Given the description of an element on the screen output the (x, y) to click on. 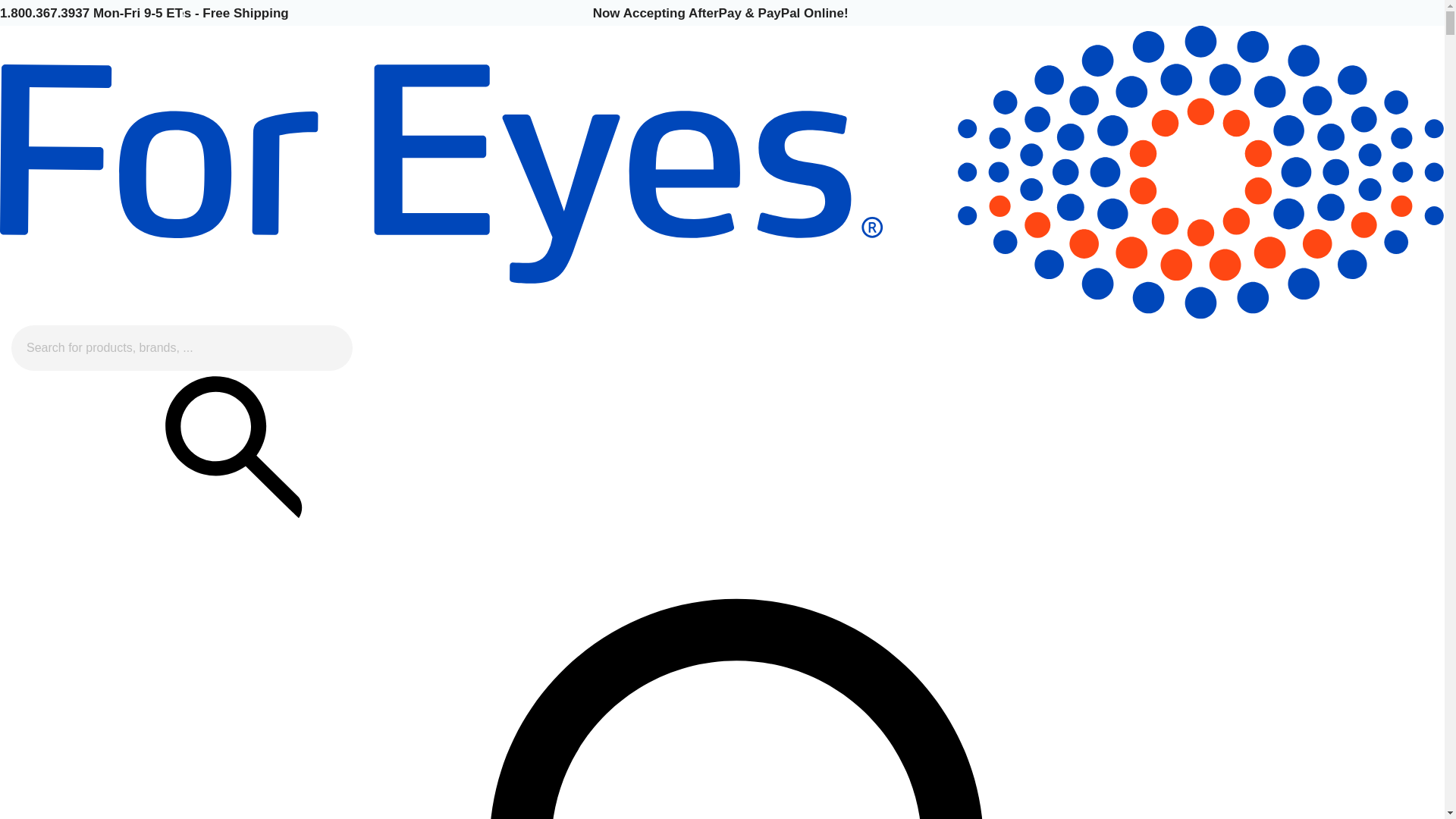
1.800.367.3937 Mon-Fri 9-5 ET (91, 12)
1.800.367.3937 Mon-Fri 9-5 ET (91, 12)
